Given the description of an element on the screen output the (x, y) to click on. 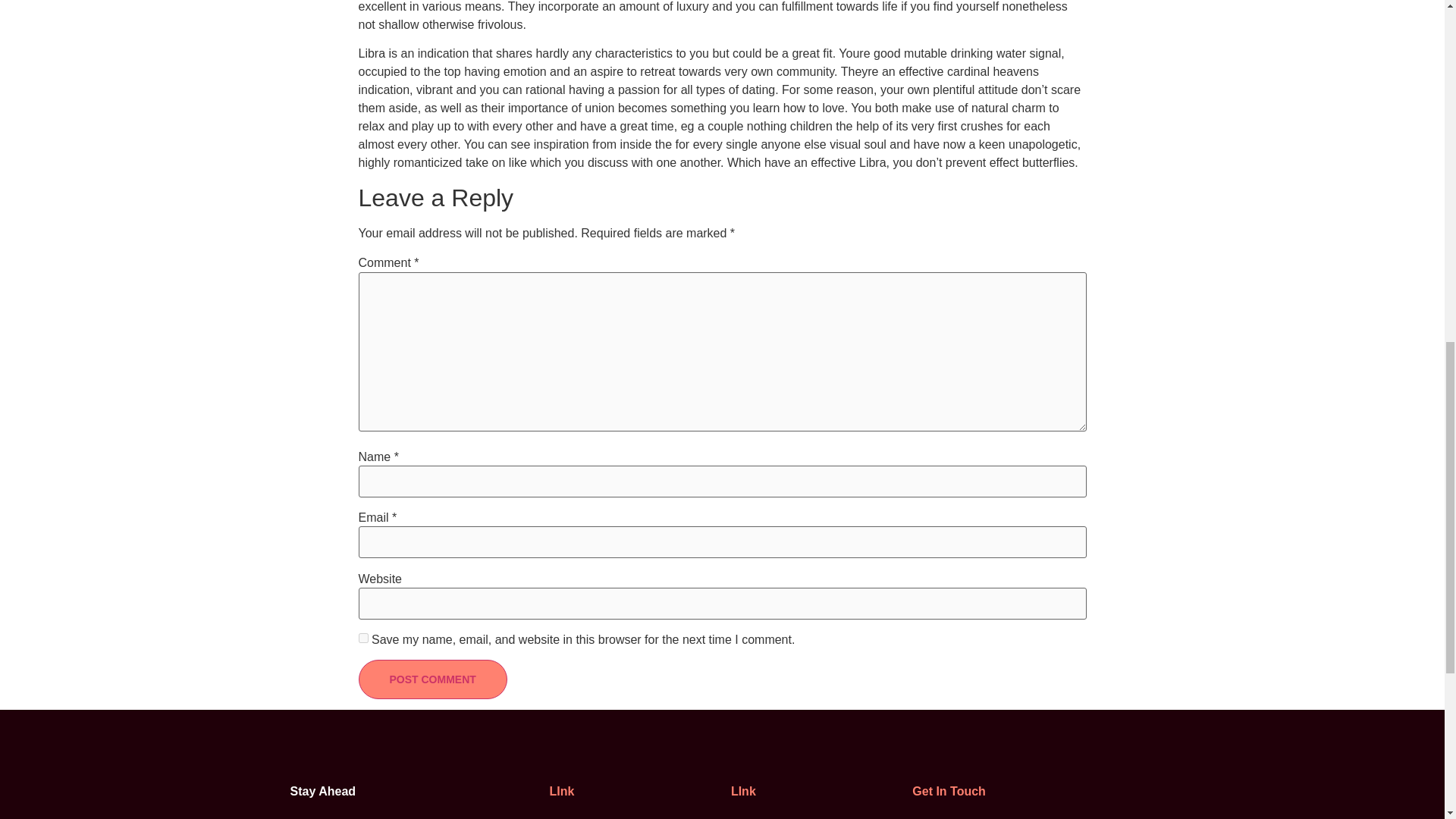
Post Comment (432, 679)
WordPress Services (639, 816)
WordPress Website Design (821, 816)
Post Comment (432, 679)
yes (363, 637)
